Given the description of an element on the screen output the (x, y) to click on. 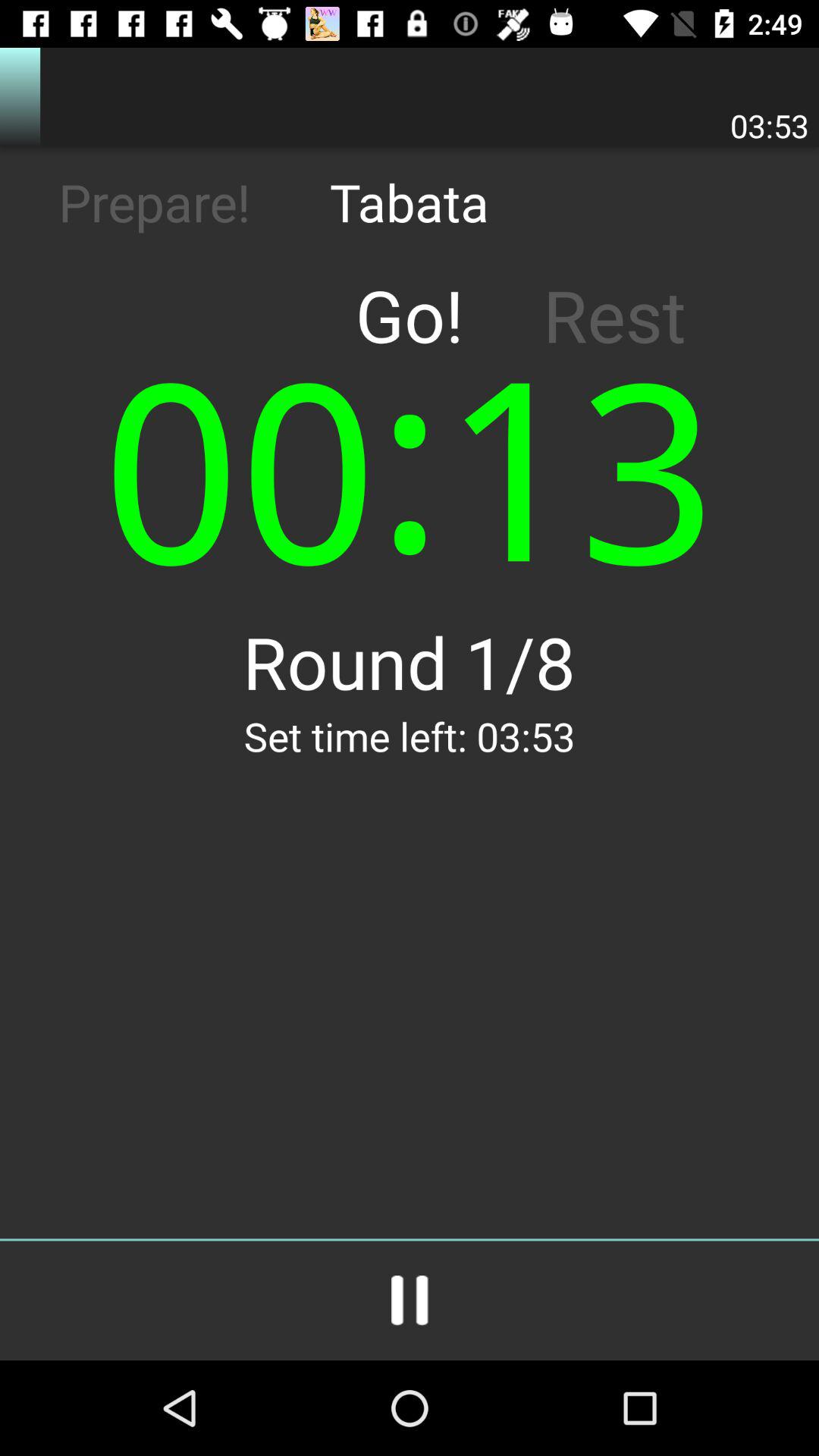
stop (409, 1300)
